Given the description of an element on the screen output the (x, y) to click on. 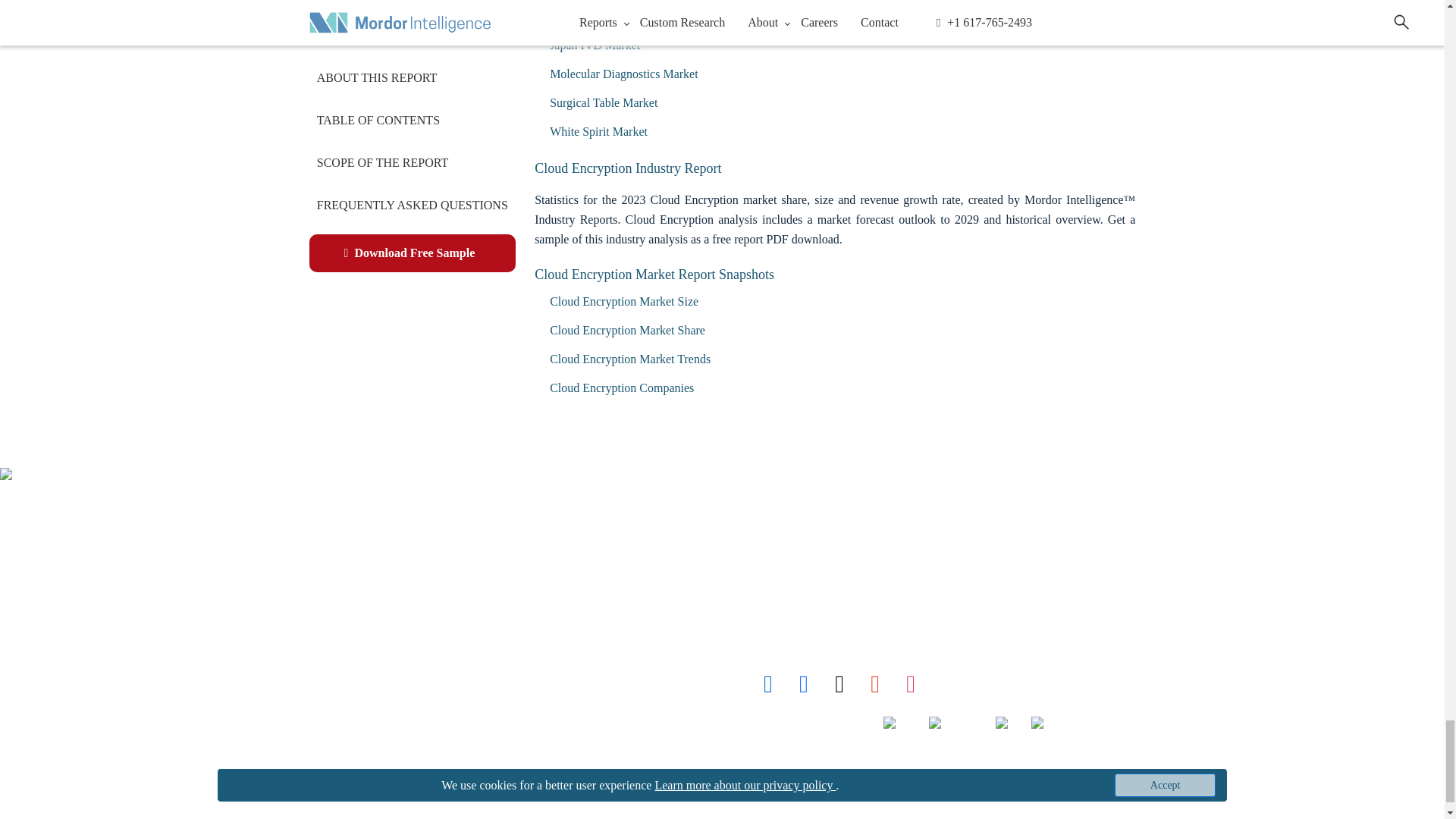
View our HTML sitemap (330, 789)
Learn about our privacy policy (344, 723)
Visit our homepage (323, 522)
Learn more about us (332, 590)
View our industry reports (327, 556)
See who we've worked with (336, 656)
Explore more (351, 623)
View our XML sitemap (322, 757)
